Given the description of an element on the screen output the (x, y) to click on. 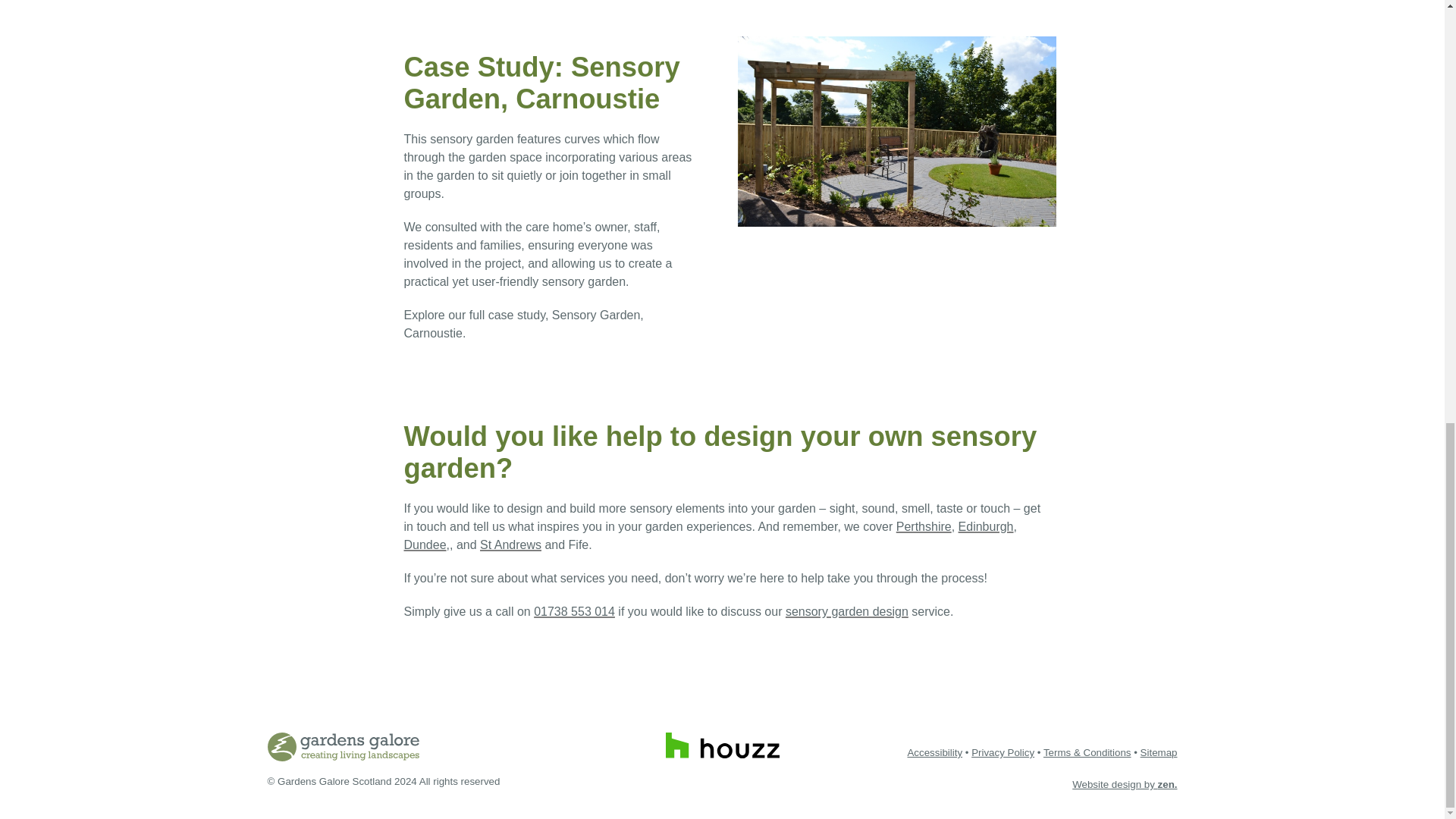
Website design by zen. (1123, 784)
Visit our Houzz profile (721, 745)
